Given the description of an element on the screen output the (x, y) to click on. 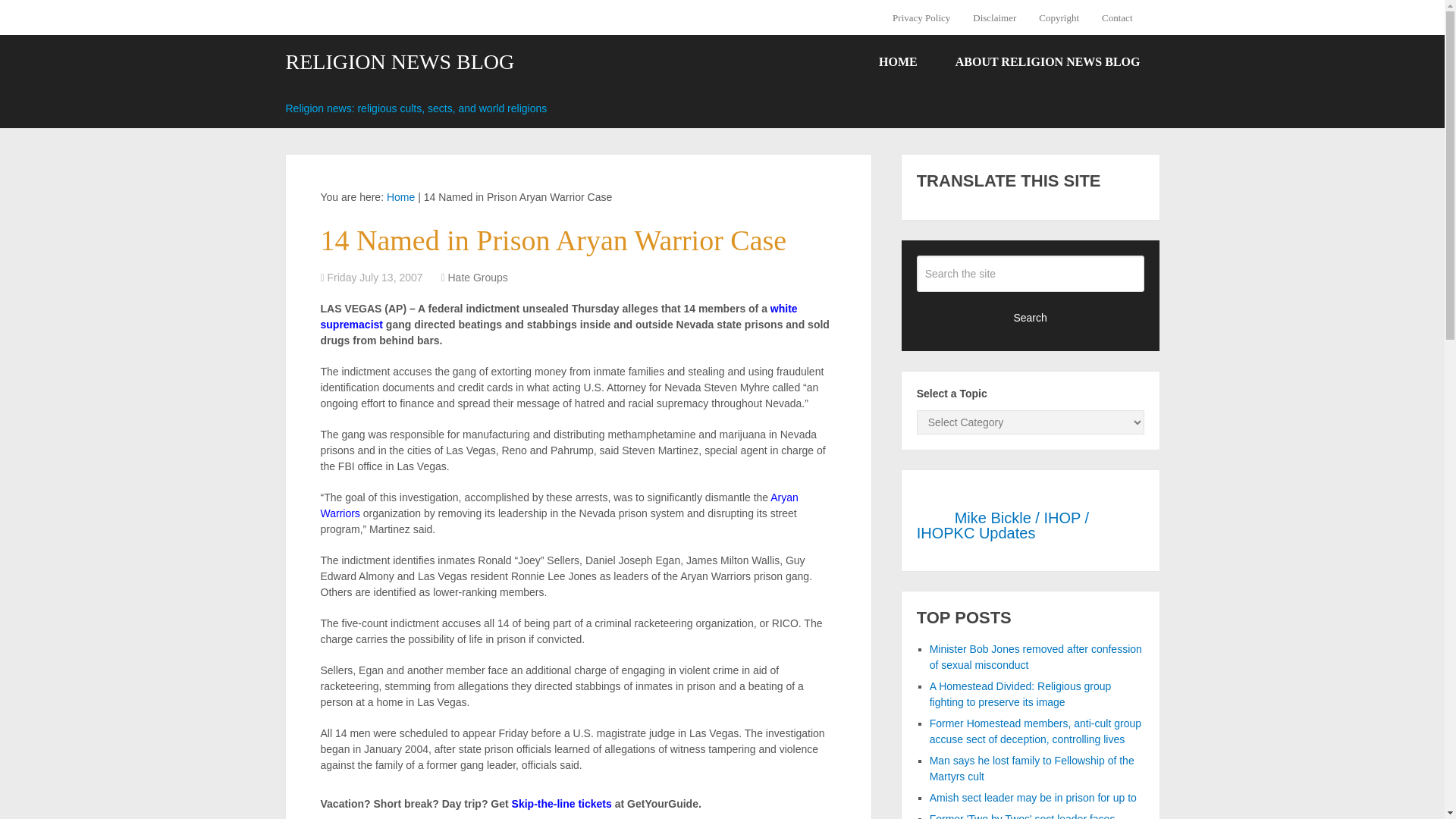
Aryan Warriors (558, 505)
ABOUT RELIGION NEWS BLOG (1047, 62)
Amish sect leader may be in prison for up to (1033, 797)
Contact (1116, 17)
Hate Groups (476, 277)
Copyright (1058, 17)
Disclaimer (993, 17)
Man says he lost family to Fellowship of the Martyrs cult (1032, 768)
Privacy Policy (926, 17)
Home (400, 196)
